Given the description of an element on the screen output the (x, y) to click on. 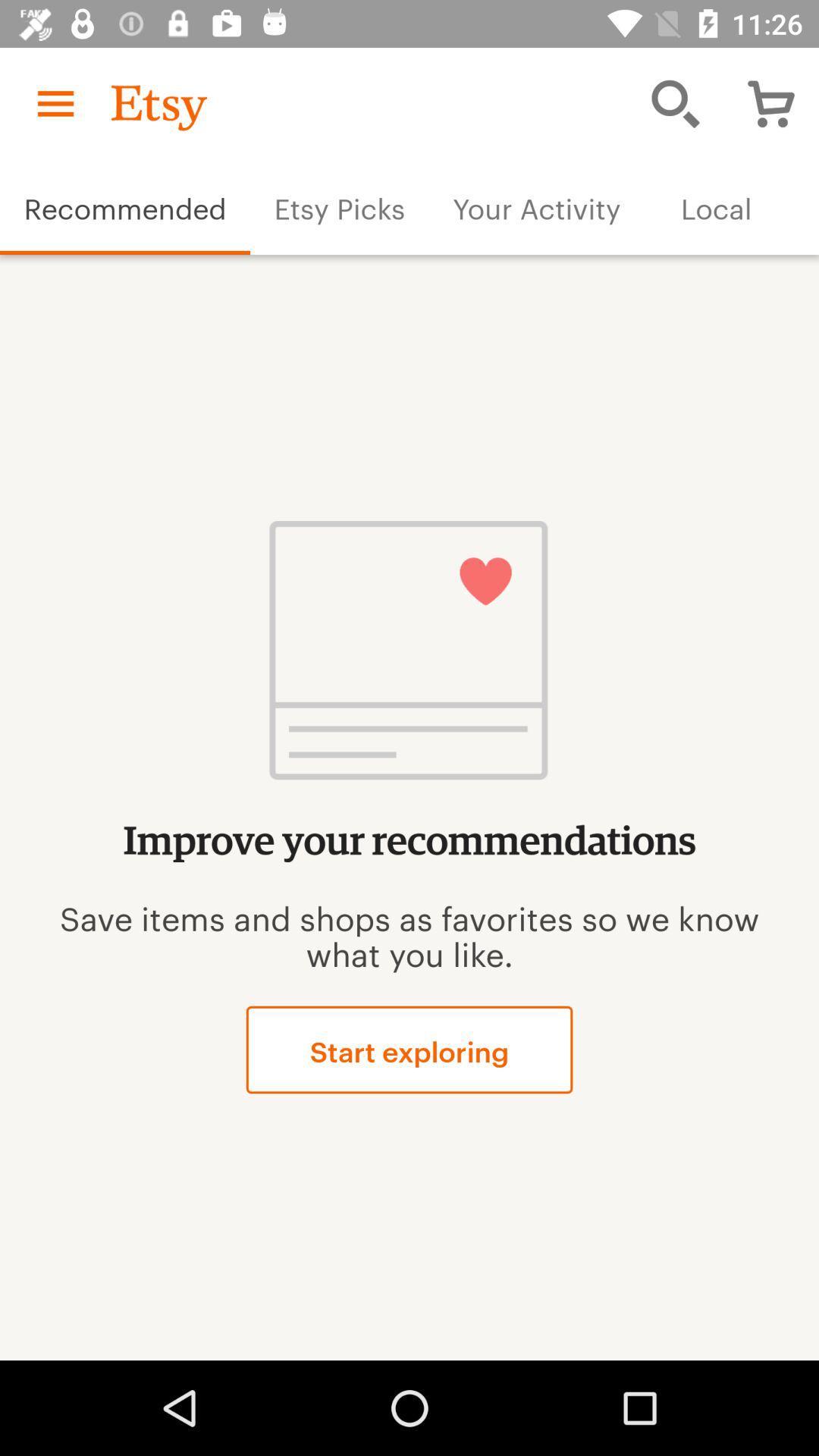
launch the item above the your activity item (675, 103)
